Given the description of an element on the screen output the (x, y) to click on. 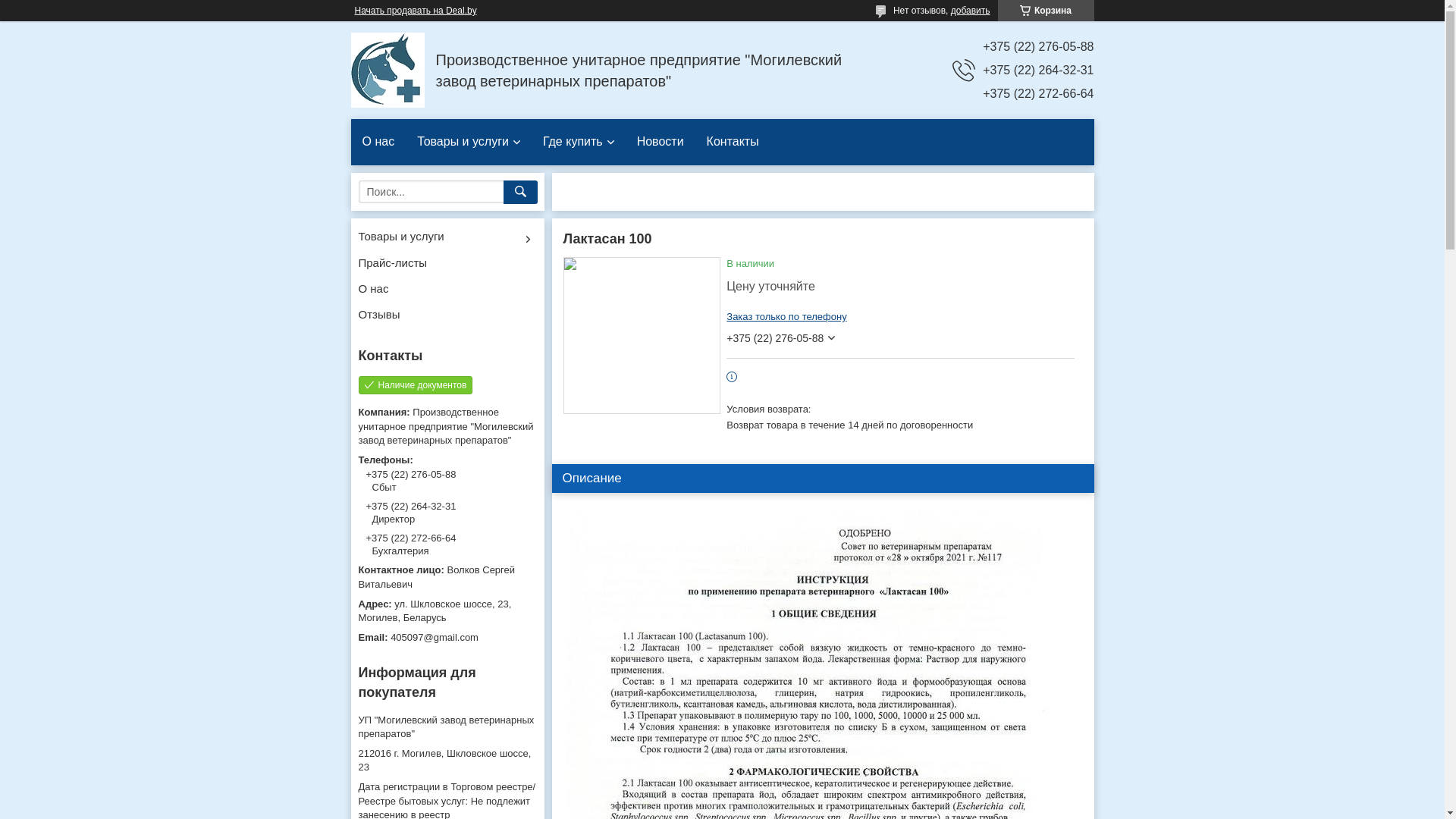
405097@gmail.com Element type: text (446, 637)
